Given the description of an element on the screen output the (x, y) to click on. 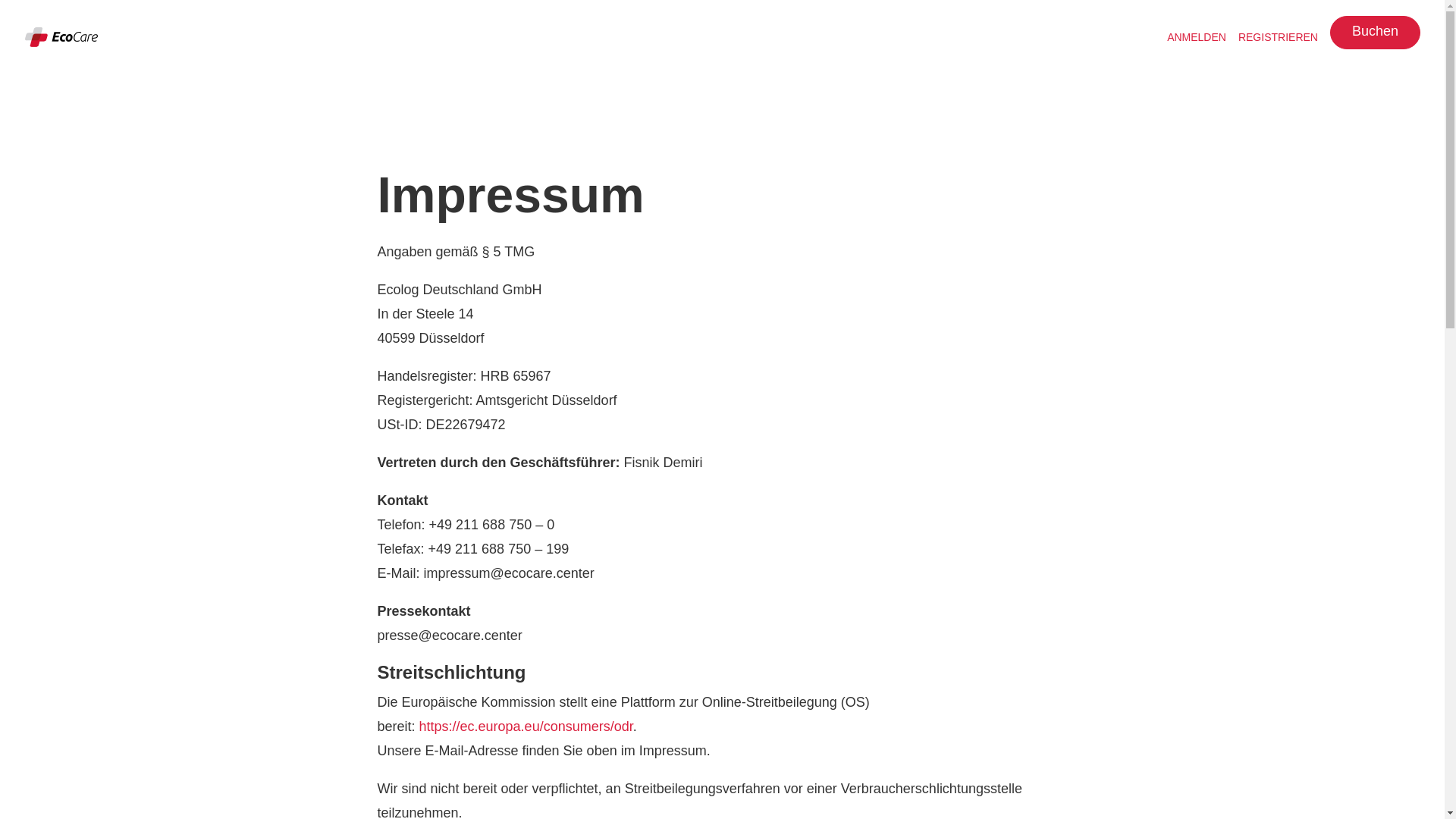
REGISTRIEREN Element type: text (1277, 36)
ANMELDEN Element type: text (1196, 36)
https://ec.europa.eu/consumers/odr Element type: text (526, 726)
Home Element type: hover (60, 36)
Buchen Element type: text (1375, 32)
